Given the description of an element on the screen output the (x, y) to click on. 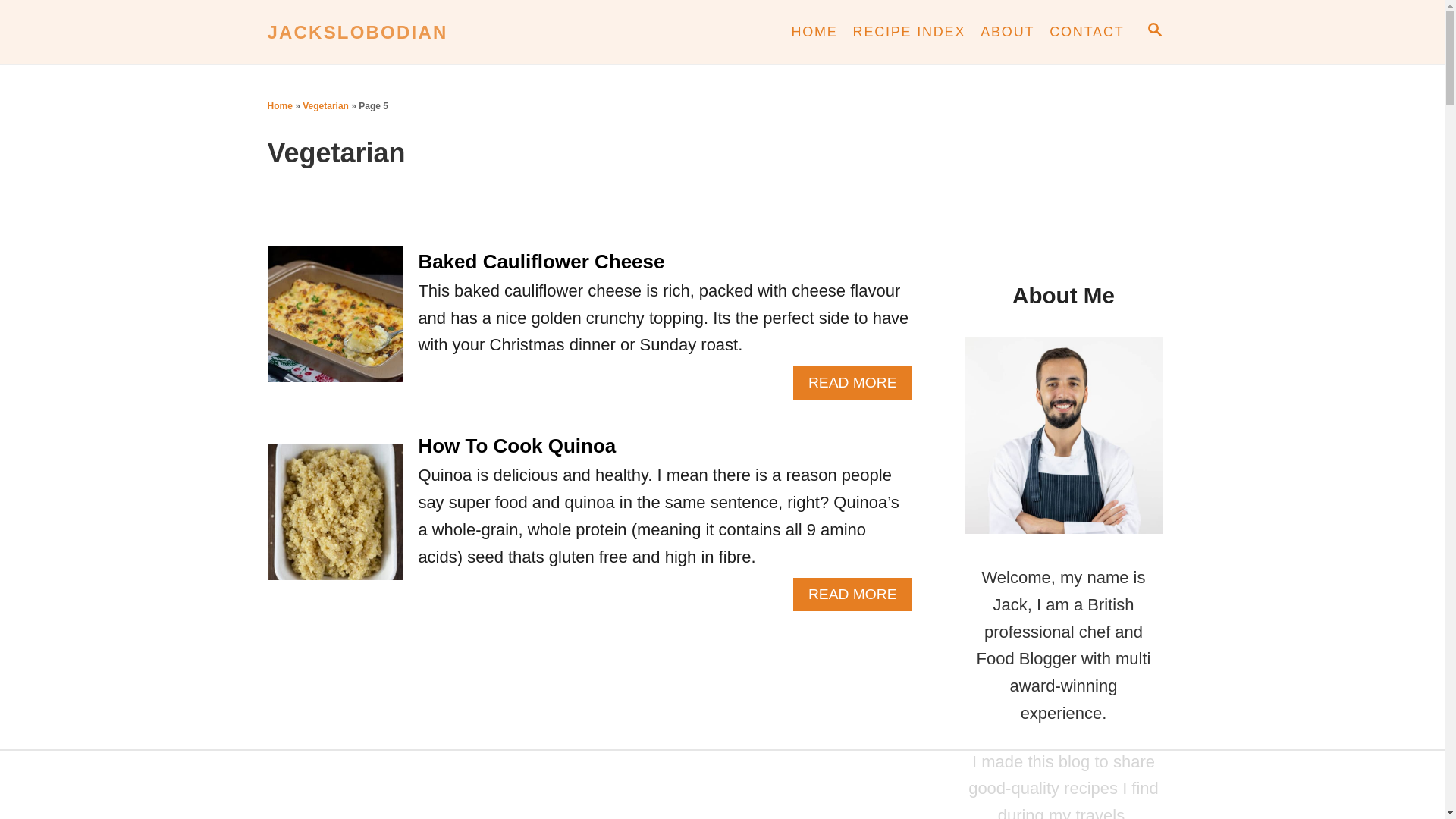
How To Cook Quinoa (516, 445)
Vegetarian (325, 105)
HOME (813, 31)
RECIPE INDEX (909, 31)
JACKSLOBODIAN (403, 31)
CONTACT (852, 382)
SEARCH (1086, 31)
How To Cook Quinoa (1153, 31)
ABOUT (852, 594)
JackSlobodian (334, 520)
Baked Cauliflower Cheese (1007, 31)
Home (403, 31)
Baked Cauliflower Cheese (540, 261)
